Given the description of an element on the screen output the (x, y) to click on. 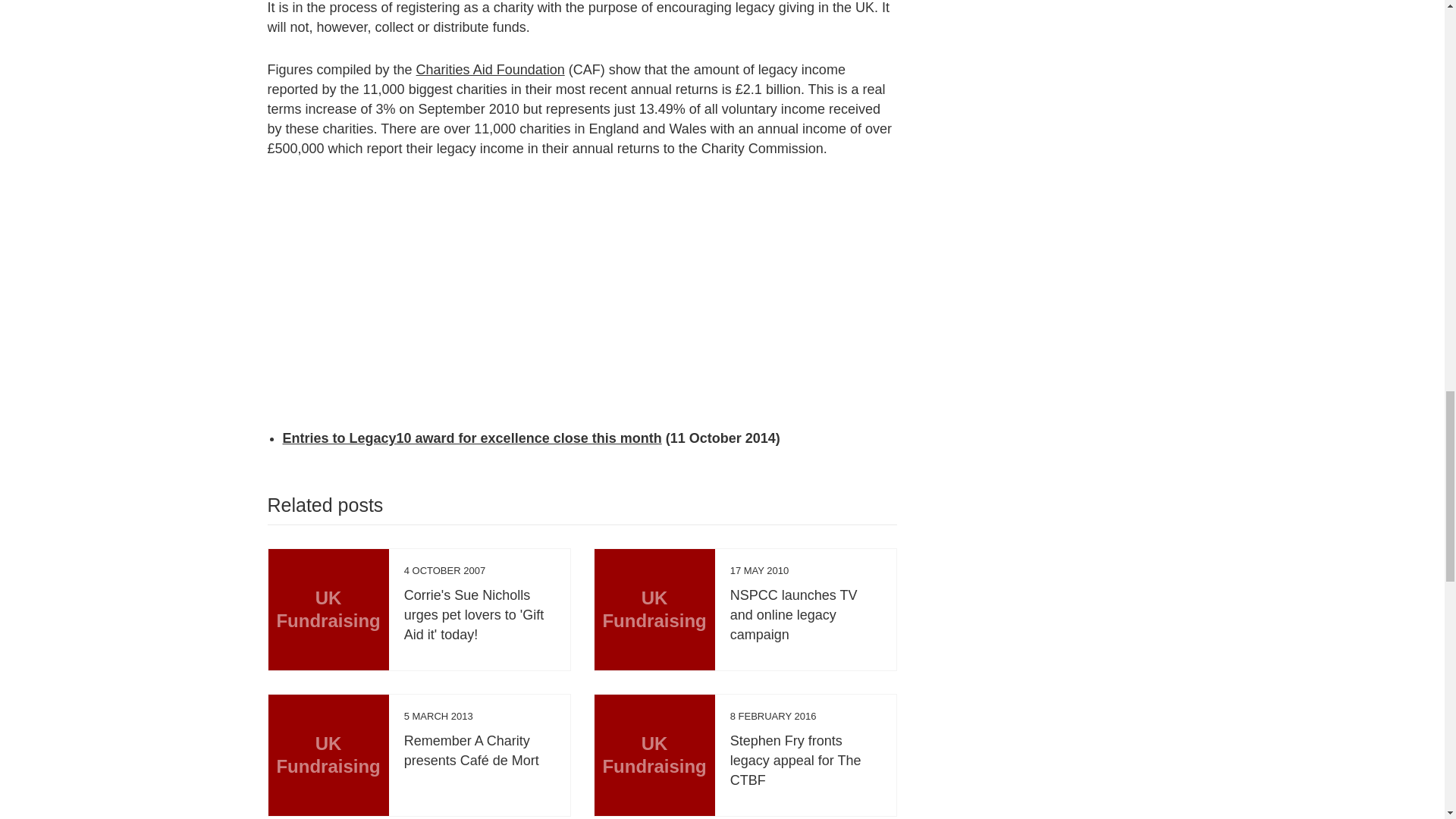
Charities Aid Foundation (490, 69)
Entries to Legacy10 award for excellence close this month (471, 437)
